Given the description of an element on the screen output the (x, y) to click on. 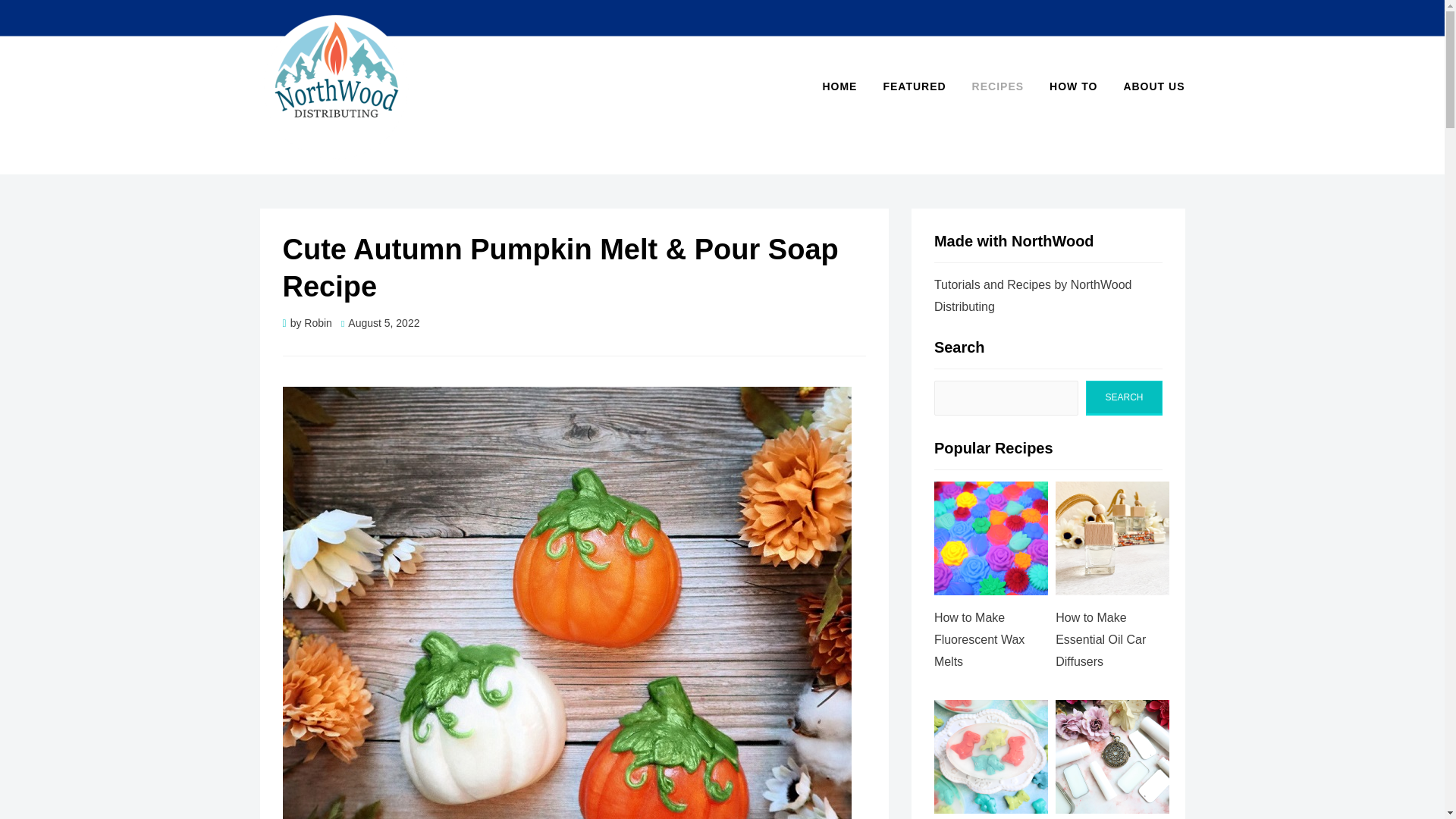
SEARCH (1123, 398)
HOW TO (1072, 86)
August 5, 2022 (380, 322)
Robin (317, 322)
HOME (839, 86)
RECIPES (997, 86)
FEATURED (913, 86)
ABOUT US (1147, 86)
